Given the description of an element on the screen output the (x, y) to click on. 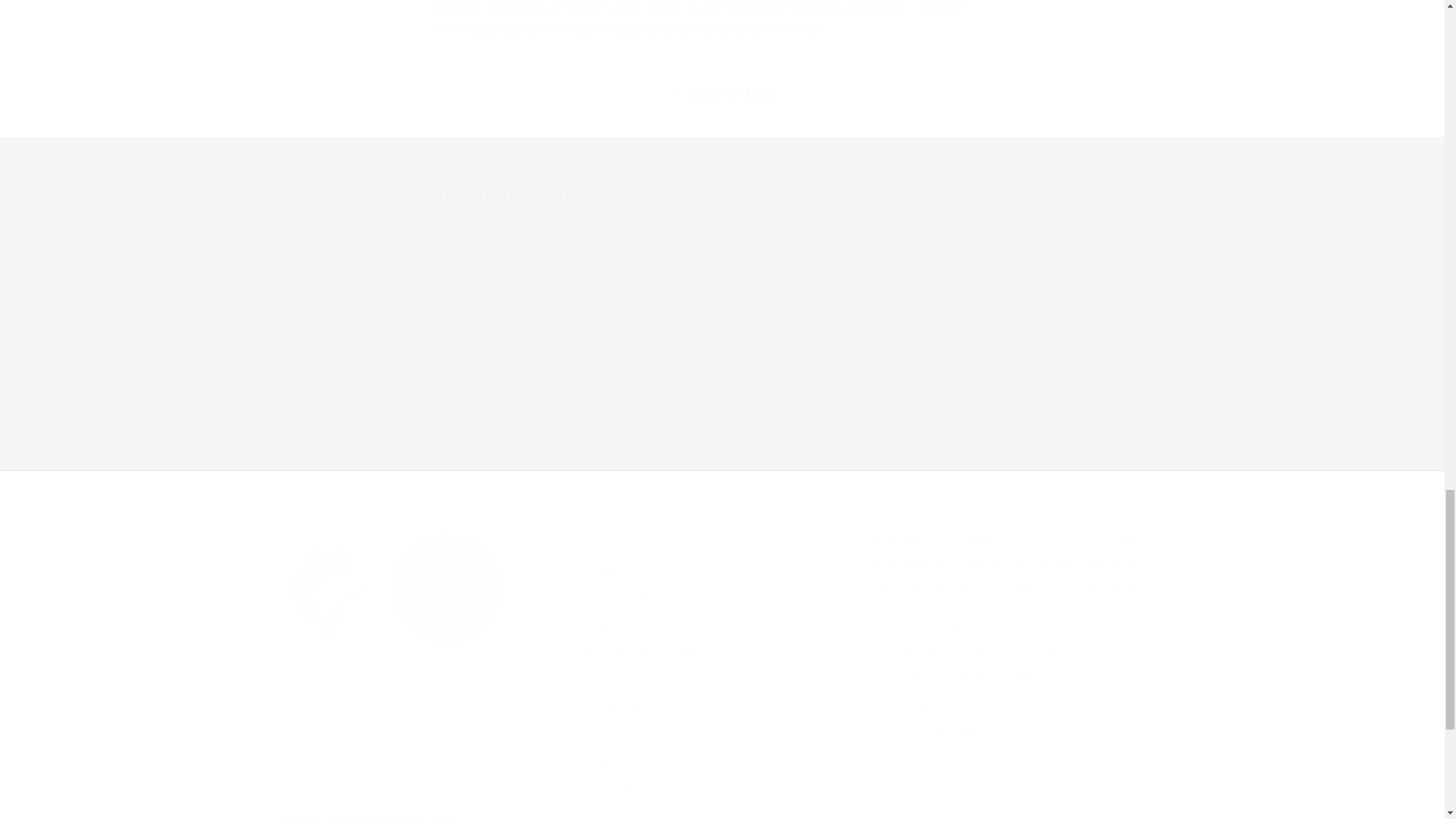
Post comment (499, 437)
